Given the description of an element on the screen output the (x, y) to click on. 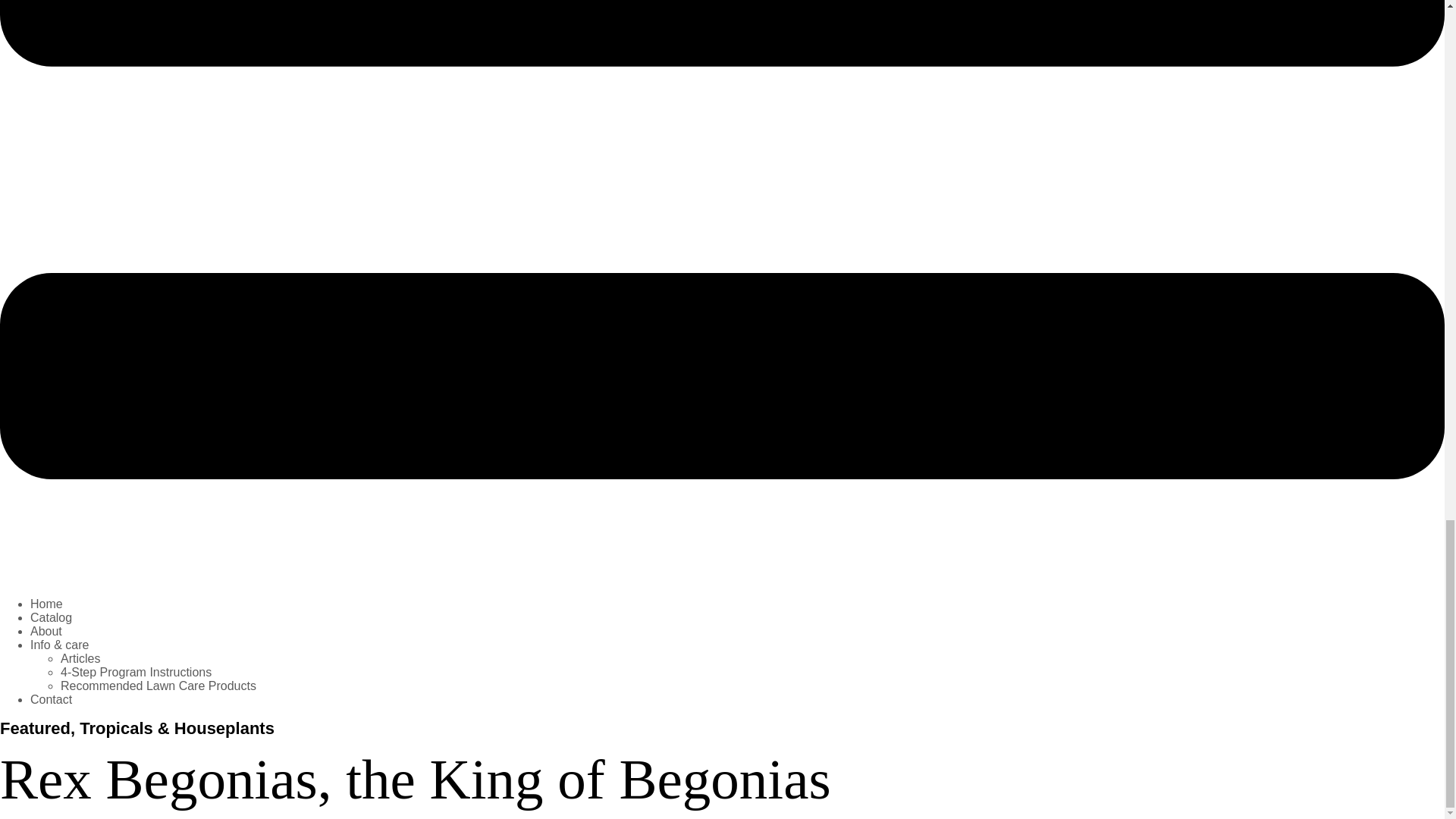
Home (46, 603)
Catalog (50, 617)
About (46, 631)
Contact (50, 698)
Articles (80, 658)
4-Step Program Instructions (136, 671)
Recommended Lawn Care Products (158, 685)
Featured (34, 728)
